Given the description of an element on the screen output the (x, y) to click on. 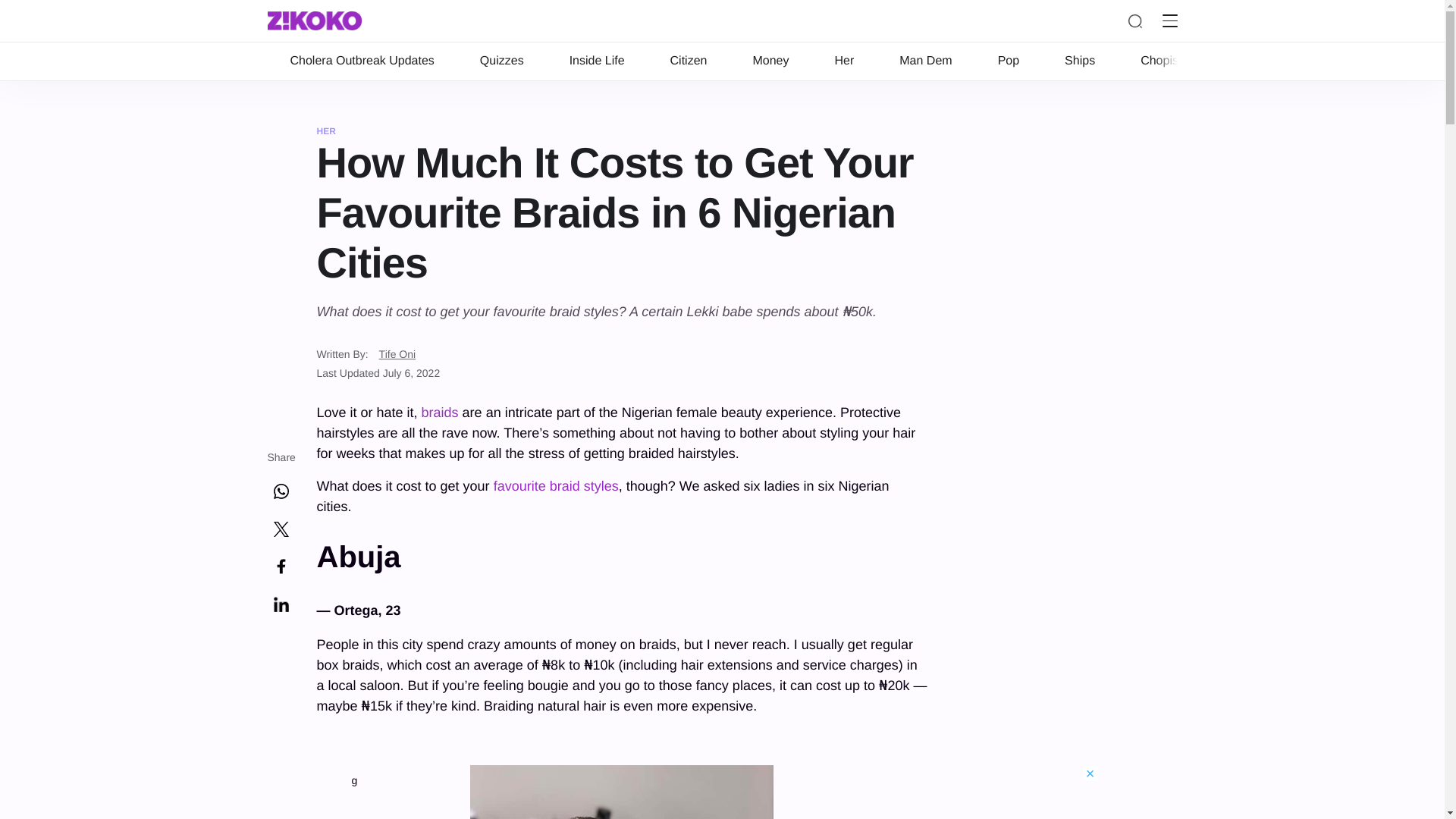
Pop (1008, 61)
Ships (1080, 61)
Man Dem (925, 61)
Her (843, 61)
Inside Life (597, 61)
Citizen (688, 61)
Cholera Outbreak Updates (361, 61)
Posts by Tife Oni (397, 353)
Money (769, 61)
Aluta and Chill (1265, 61)
